Given the description of an element on the screen output the (x, y) to click on. 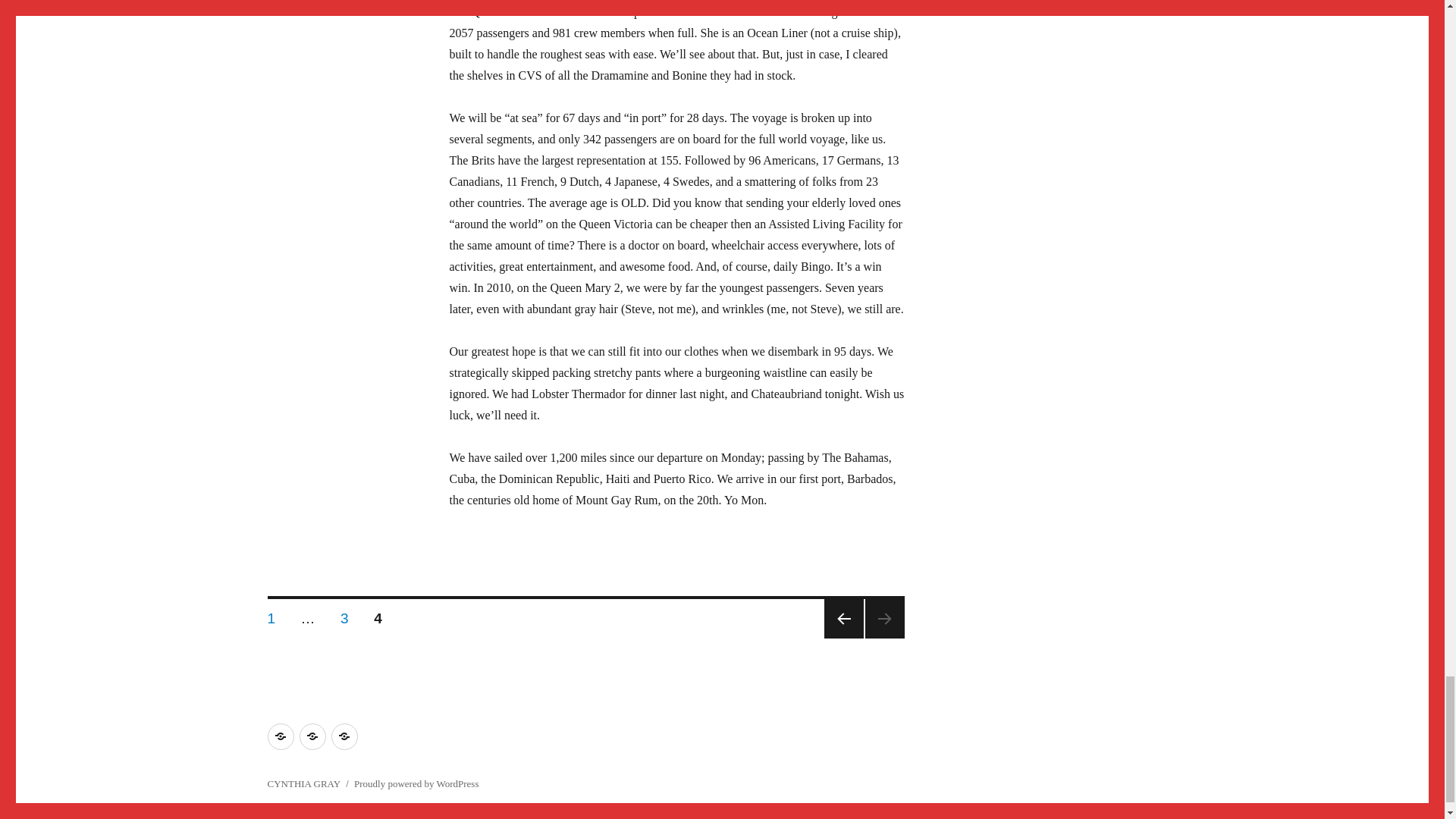
PREVIOUS PAGE (271, 614)
